Given the description of an element on the screen output the (x, y) to click on. 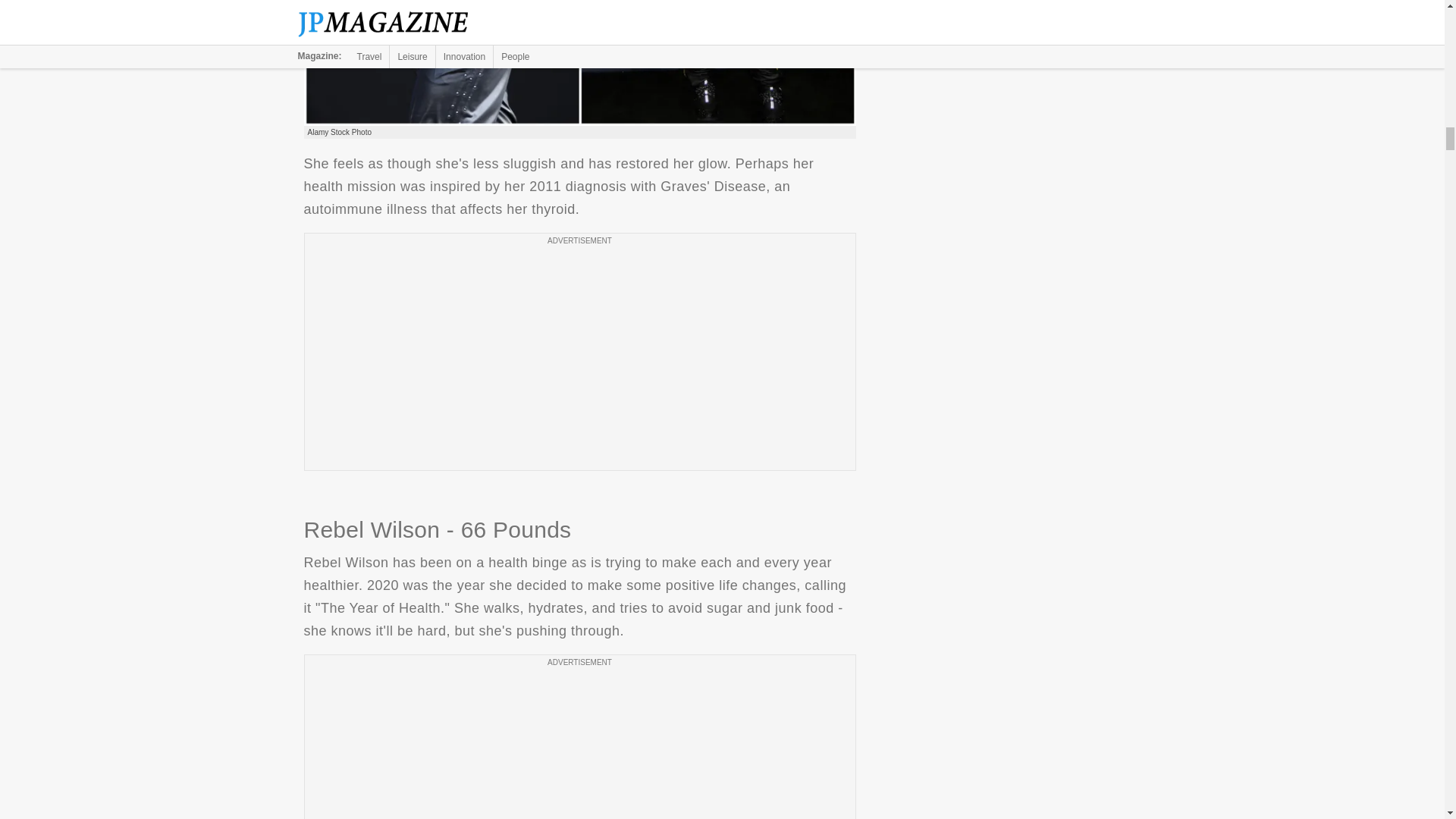
Missy Elliott - 70 Pounds (579, 63)
